Given the description of an element on the screen output the (x, y) to click on. 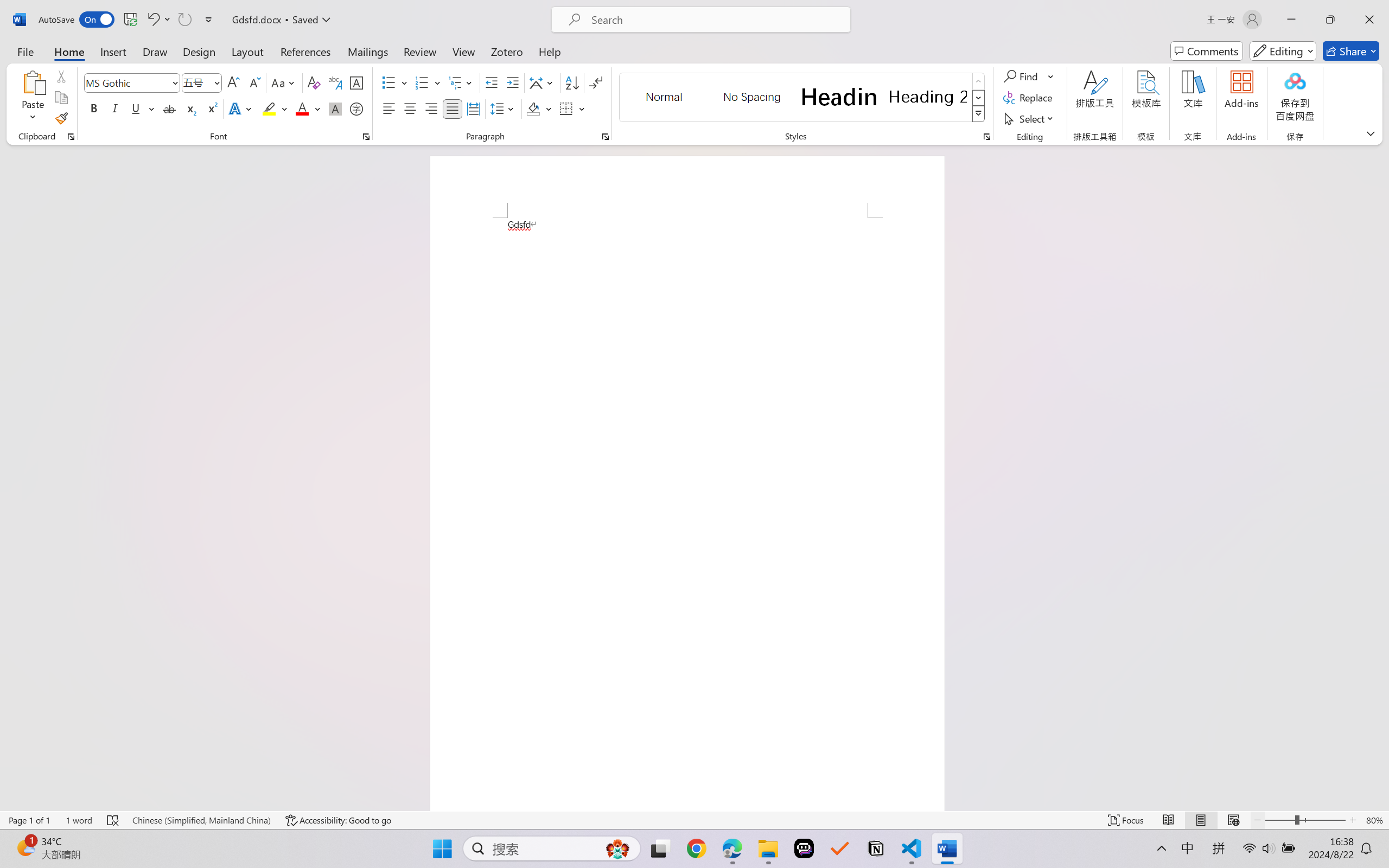
Font Color Red (302, 108)
